Given the description of an element on the screen output the (x, y) to click on. 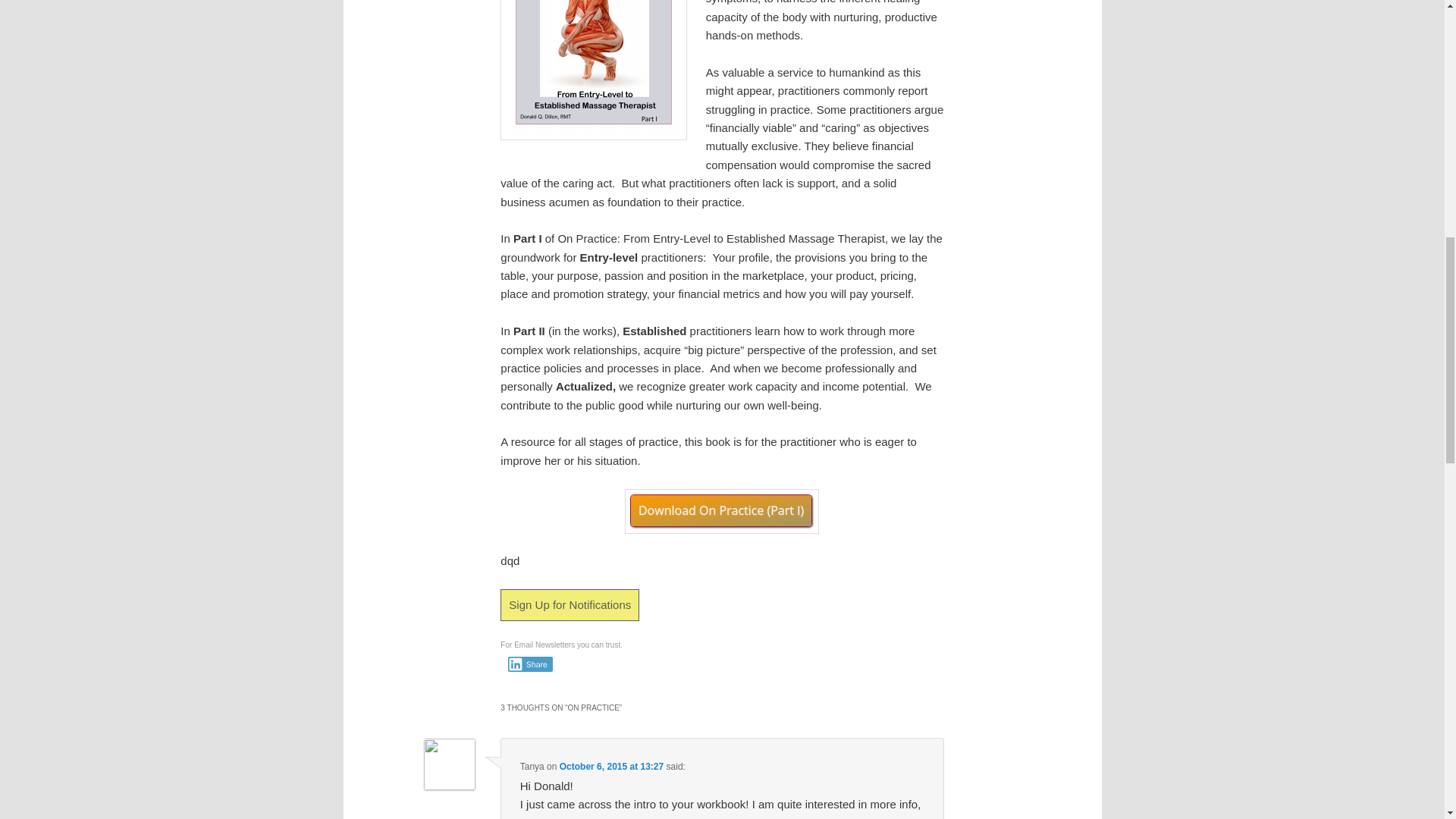
Sign Up for Notifications (569, 604)
Share (530, 663)
October 6, 2015 at 13:27 (611, 766)
